Given the description of an element on the screen output the (x, y) to click on. 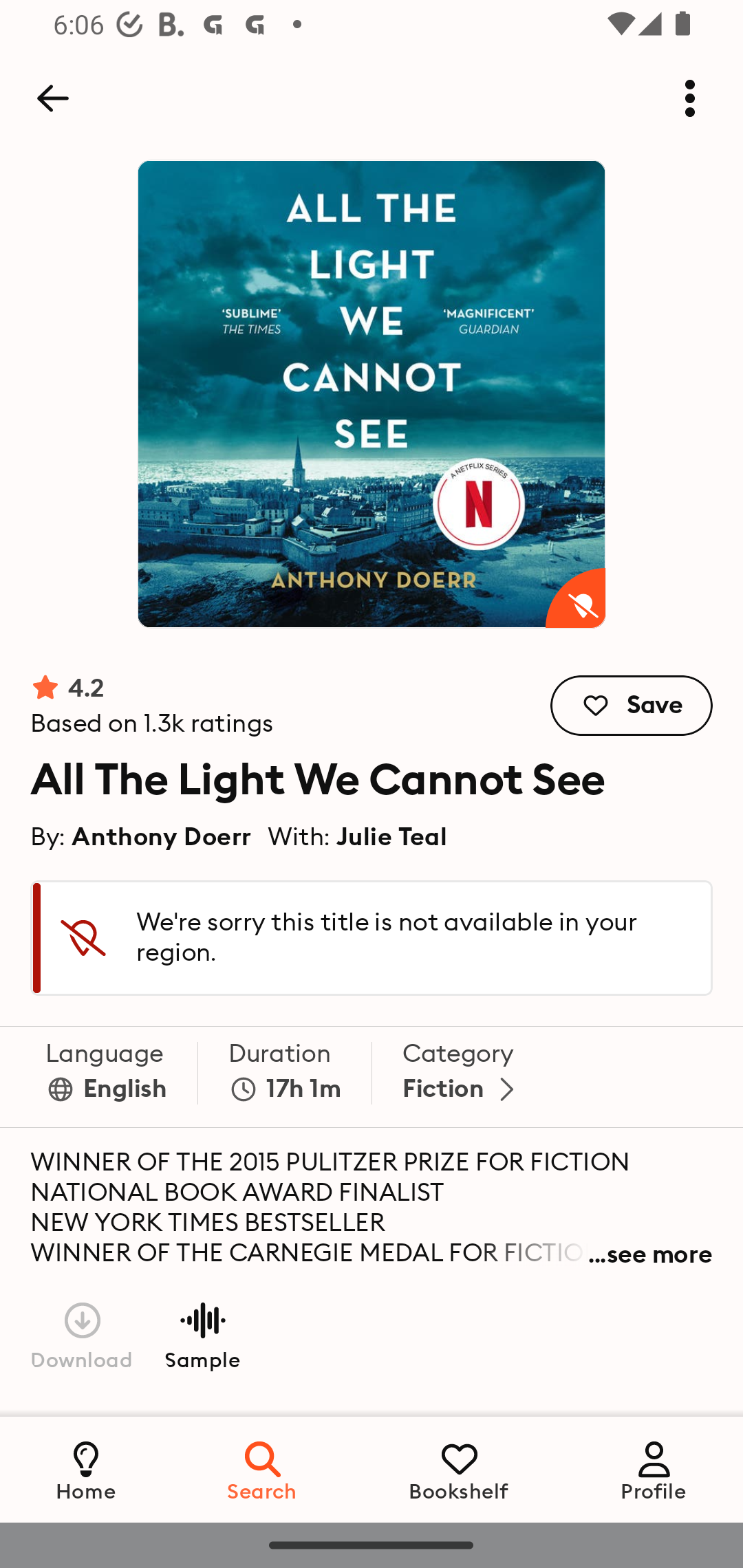
Back (52, 98)
More options (689, 98)
Rating 4.2 stars, out of 1251 ratings (152, 705)
Save Save to bookshelf (631, 705)
By: Anthony Doerr (141, 835)
With: Julie Teal (357, 835)
Category Fiction (462, 1077)
Play sample (202, 1333)
Home (85, 1468)
Search (262, 1468)
Bookshelf (458, 1468)
Profile (653, 1468)
